Given the description of an element on the screen output the (x, y) to click on. 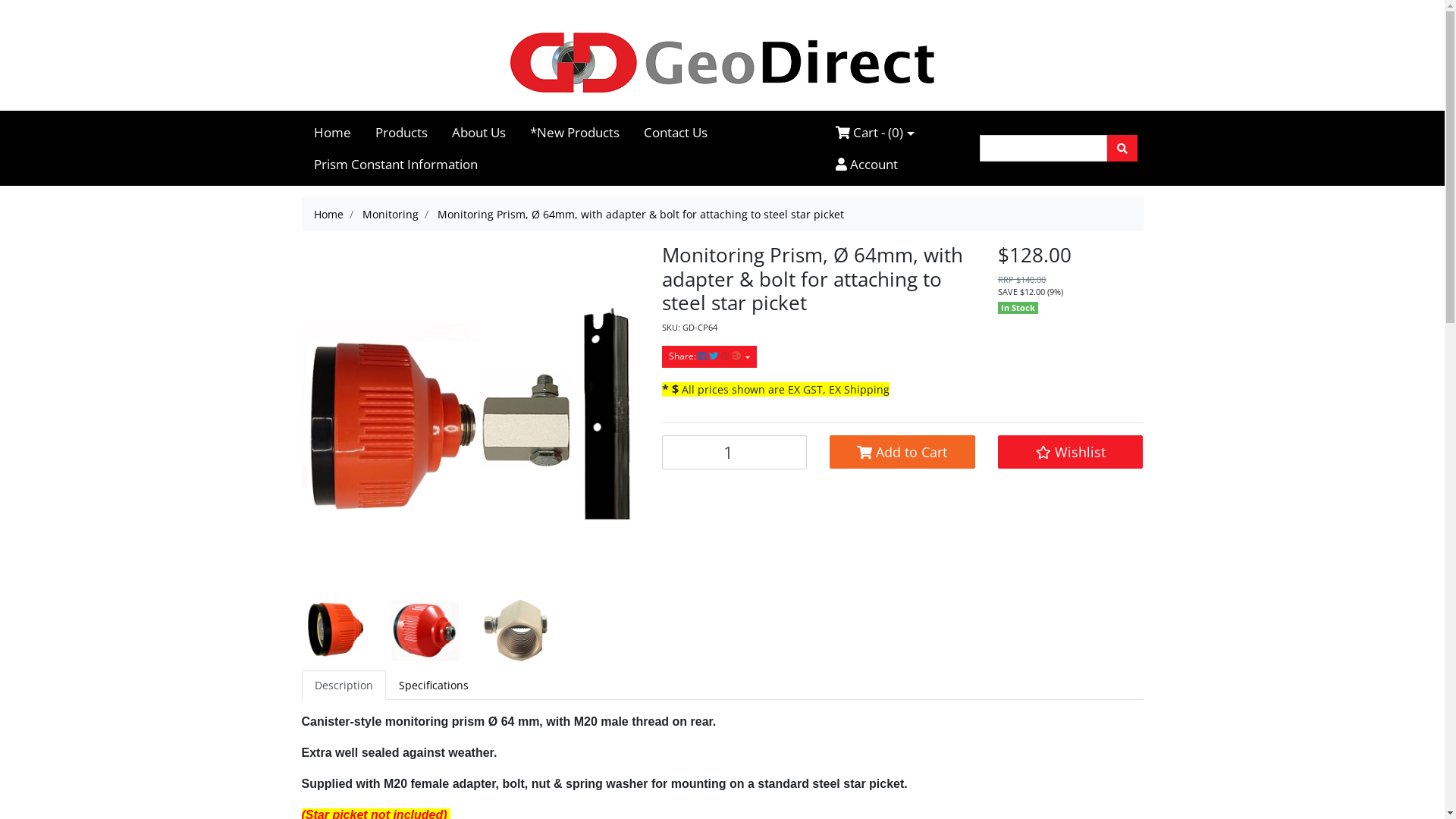
Prism Constant Information Element type: text (395, 164)
Add to Cart Element type: text (902, 451)
Share: Element type: text (708, 356)
Home Element type: text (332, 132)
Cart - (0) Element type: text (874, 132)
Specifications Element type: text (432, 684)
Wishlist Element type: text (1070, 451)
Account Element type: text (866, 164)
Monitoring Element type: text (390, 214)
Contact Us Element type: text (674, 132)
Survey Suppliers Pty Ltd (T/A: GeoDirect Aust) Element type: hover (721, 61)
Products Element type: text (400, 132)
Home Element type: text (328, 214)
Search Element type: text (1122, 147)
Description Element type: text (343, 684)
*New Products Element type: text (573, 132)
About Us Element type: text (478, 132)
